Given the description of an element on the screen output the (x, y) to click on. 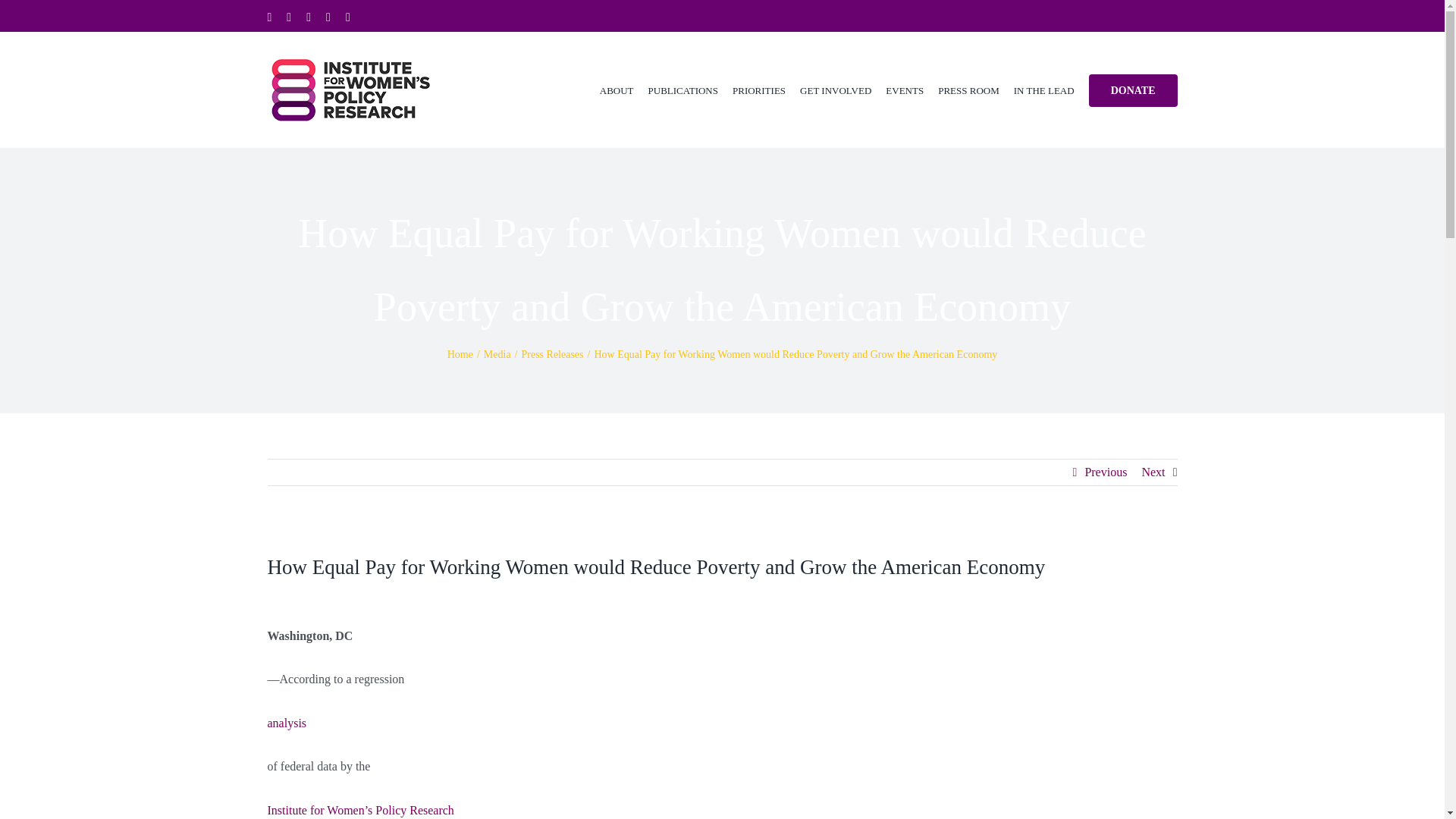
Media (497, 354)
Previous (1105, 472)
Home (459, 354)
Press Releases (552, 354)
